Given the description of an element on the screen output the (x, y) to click on. 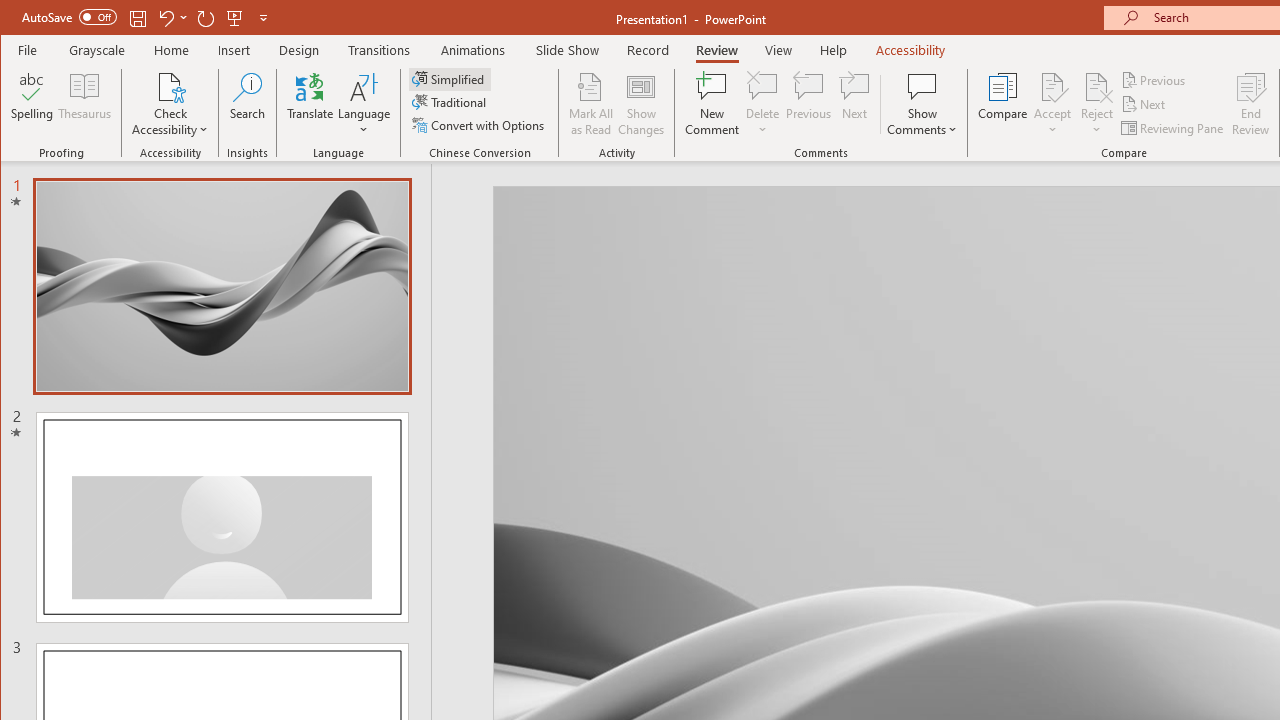
Previous (1154, 80)
Language (363, 104)
Accept (1052, 104)
Reject (1096, 104)
Simplified (450, 78)
Convert with Options... (479, 124)
